Given the description of an element on the screen output the (x, y) to click on. 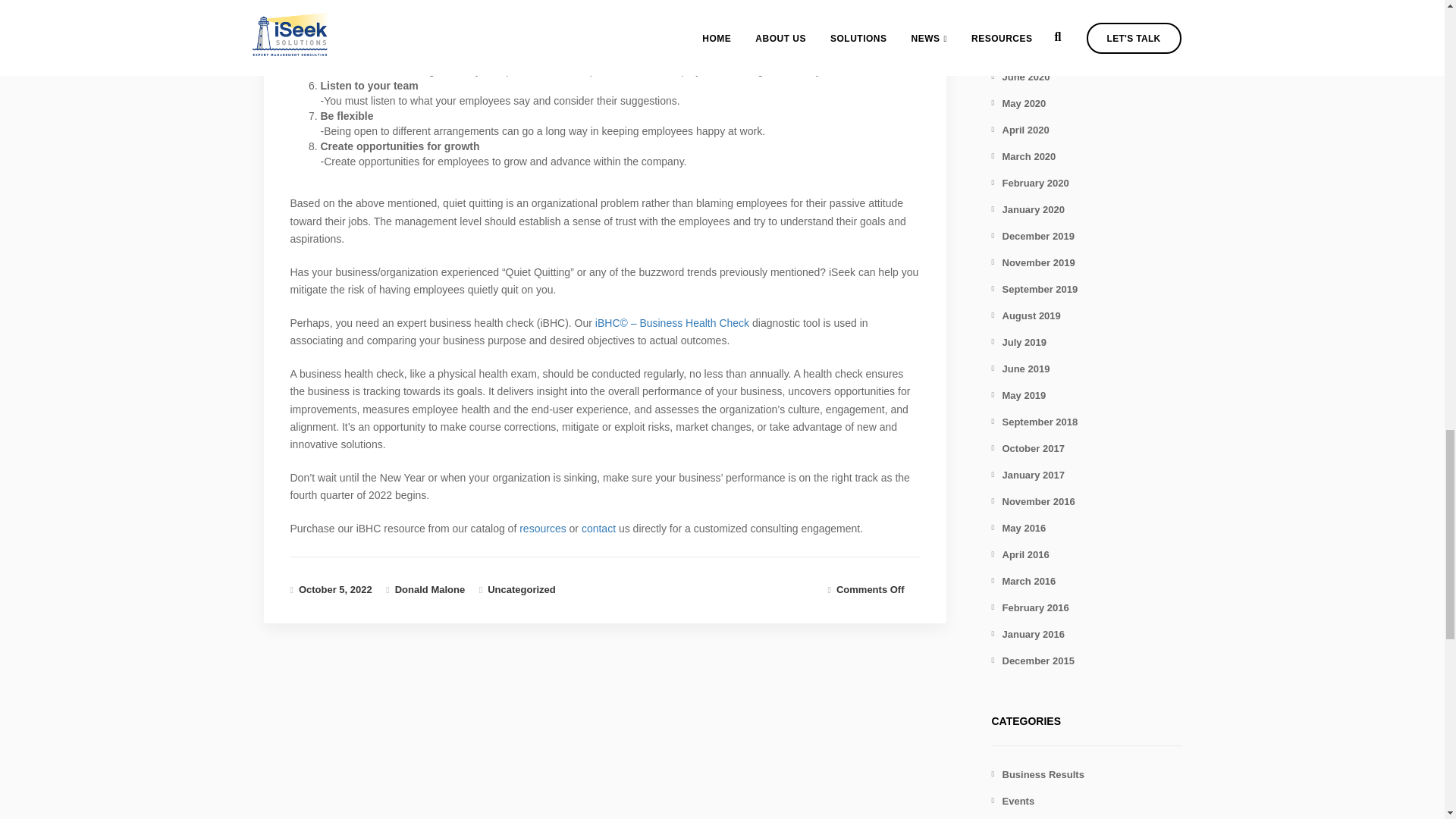
Posts by Donald Malone (429, 589)
Quietly Quitting (335, 589)
Uncategorized (521, 589)
October 5, 2022 (335, 589)
contact (597, 528)
resources (542, 528)
Donald Malone (429, 589)
